Given the description of an element on the screen output the (x, y) to click on. 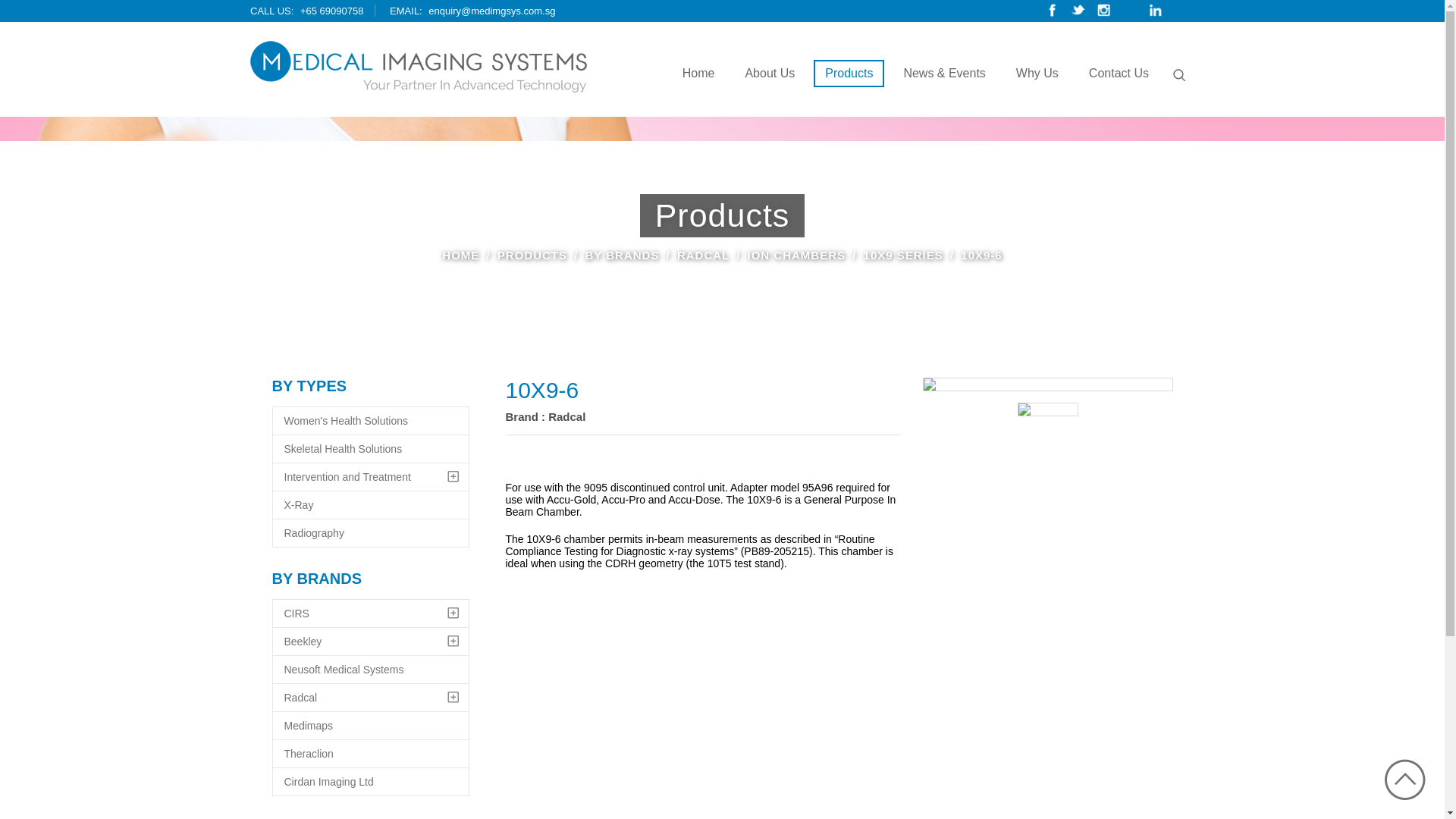
Products (848, 73)
Home (698, 73)
Medical Imaging Systems (418, 66)
Why Us (1037, 73)
twitter (1077, 9)
Contact Us (1118, 73)
instagram (1103, 10)
facebook (1052, 10)
About Us (769, 73)
linkedin (1154, 10)
